Given the description of an element on the screen output the (x, y) to click on. 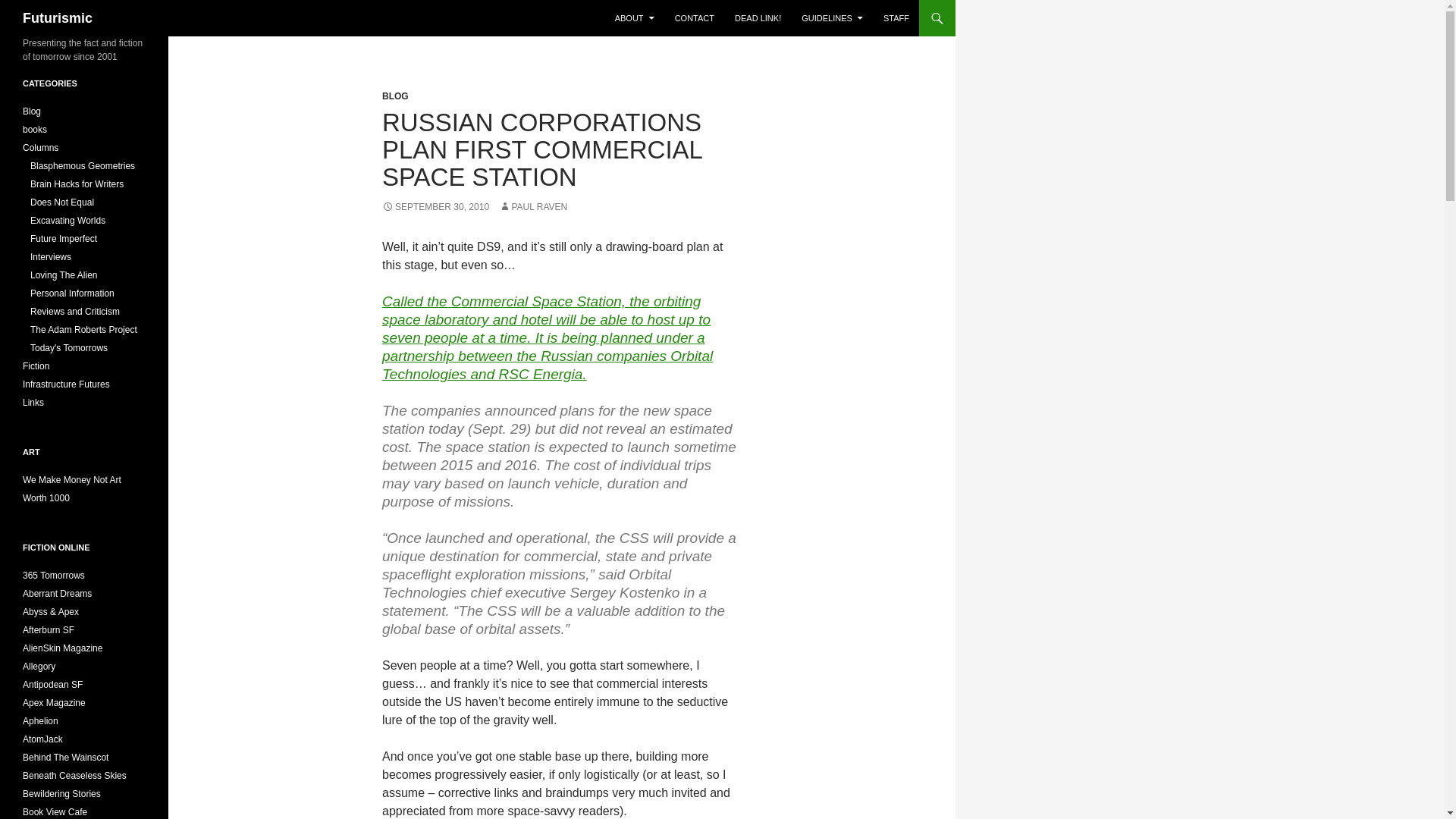
Interviews (50, 256)
GUIDELINES (832, 18)
Infrastructure Futures (66, 384)
ABOUT (634, 18)
DEAD LINK! (757, 18)
Today's Tomorrows (68, 347)
Fiction (36, 366)
Links (33, 402)
Brain Hacks for Writers (76, 184)
